Given the description of an element on the screen output the (x, y) to click on. 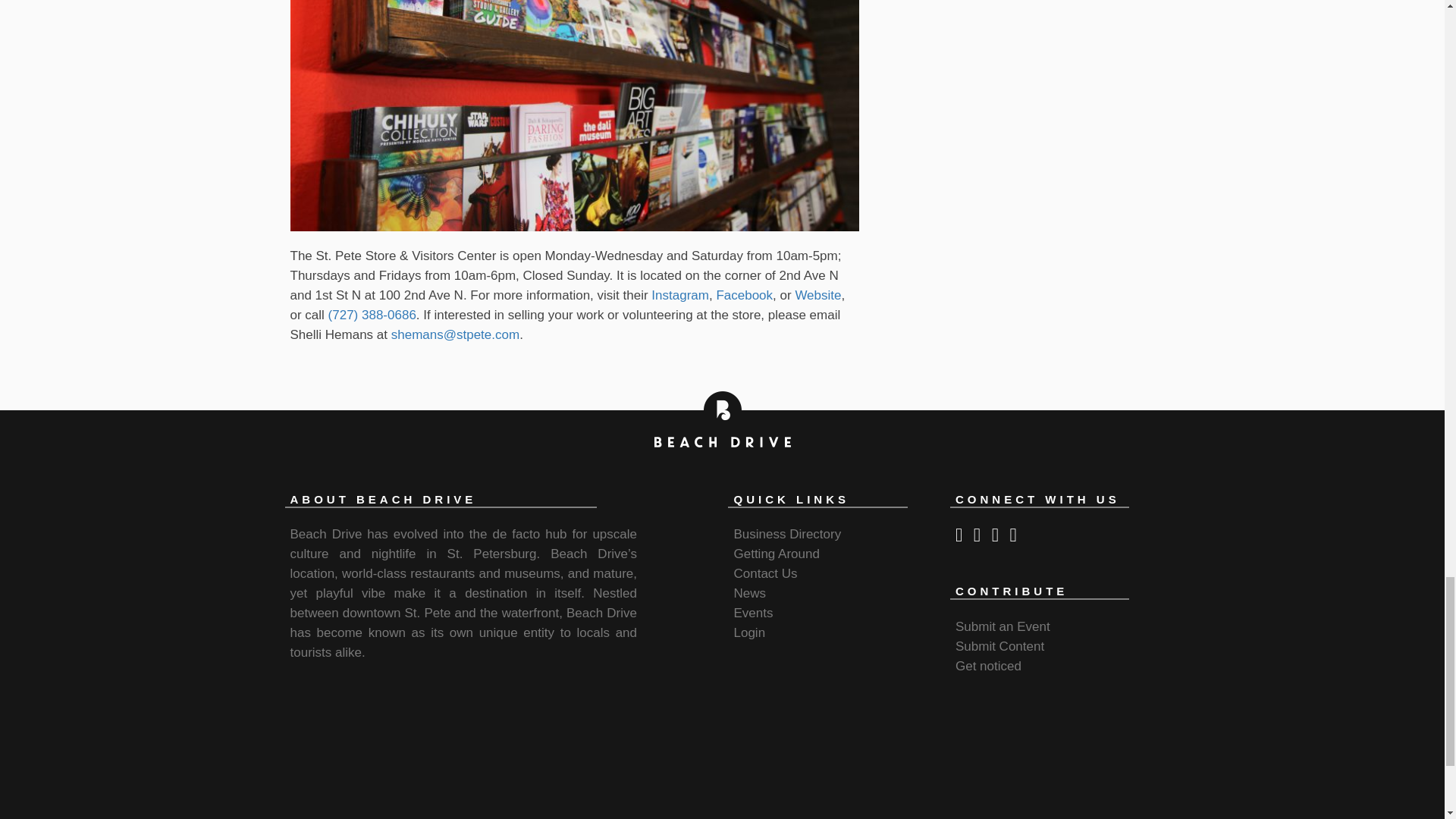
Contact Us (764, 573)
Login (749, 632)
Submit an Event (1002, 626)
Events (753, 612)
Facebook (743, 295)
Business Directory (787, 534)
Instagram (679, 295)
News (749, 593)
Submit Content (999, 646)
Website (817, 295)
Get noticed (988, 666)
Getting Around (775, 554)
